Given the description of an element on the screen output the (x, y) to click on. 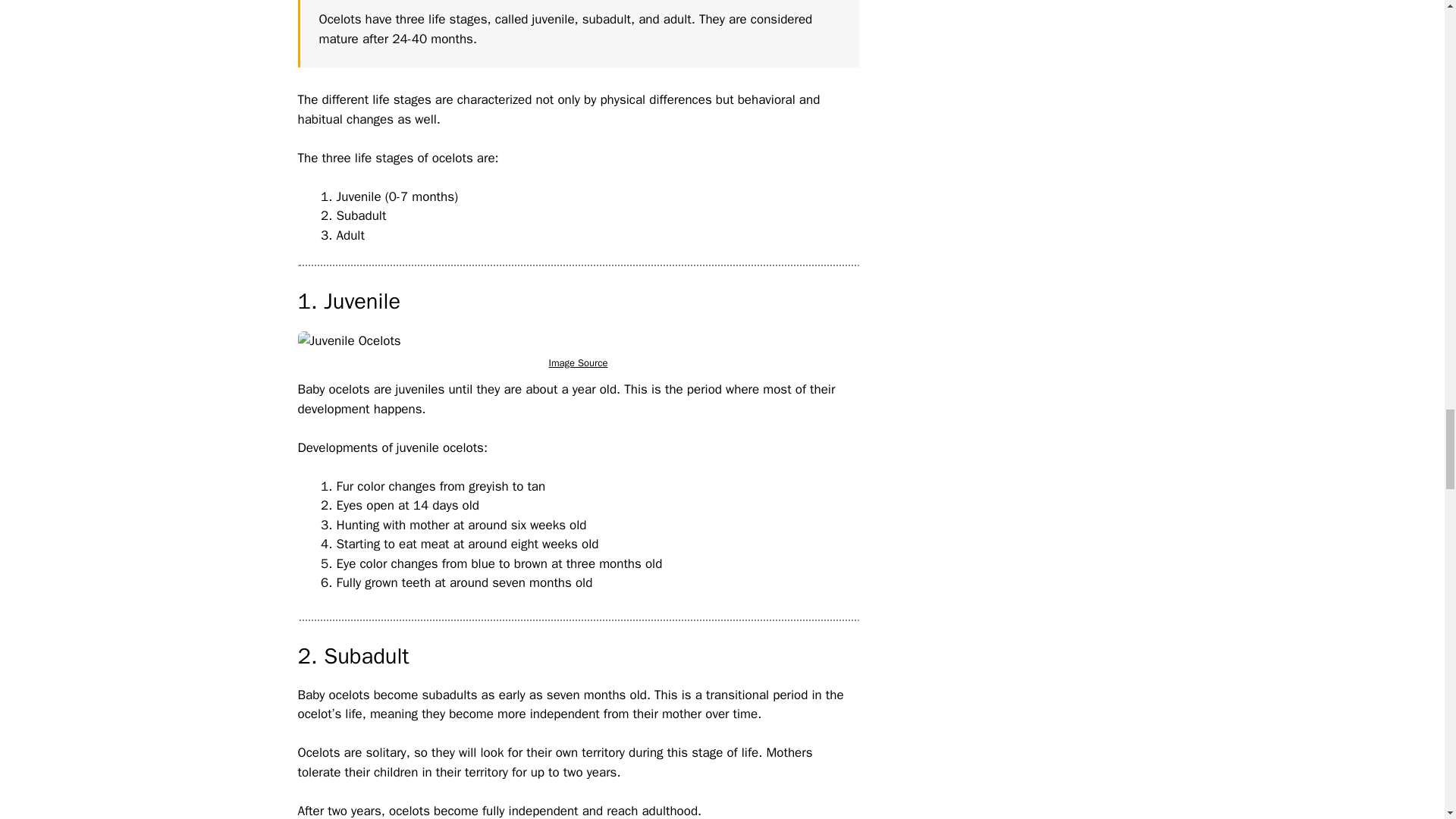
Image Source (578, 362)
Baby Ocelots: Everything to Know About Ocelot Kittens (348, 341)
